Given the description of an element on the screen output the (x, y) to click on. 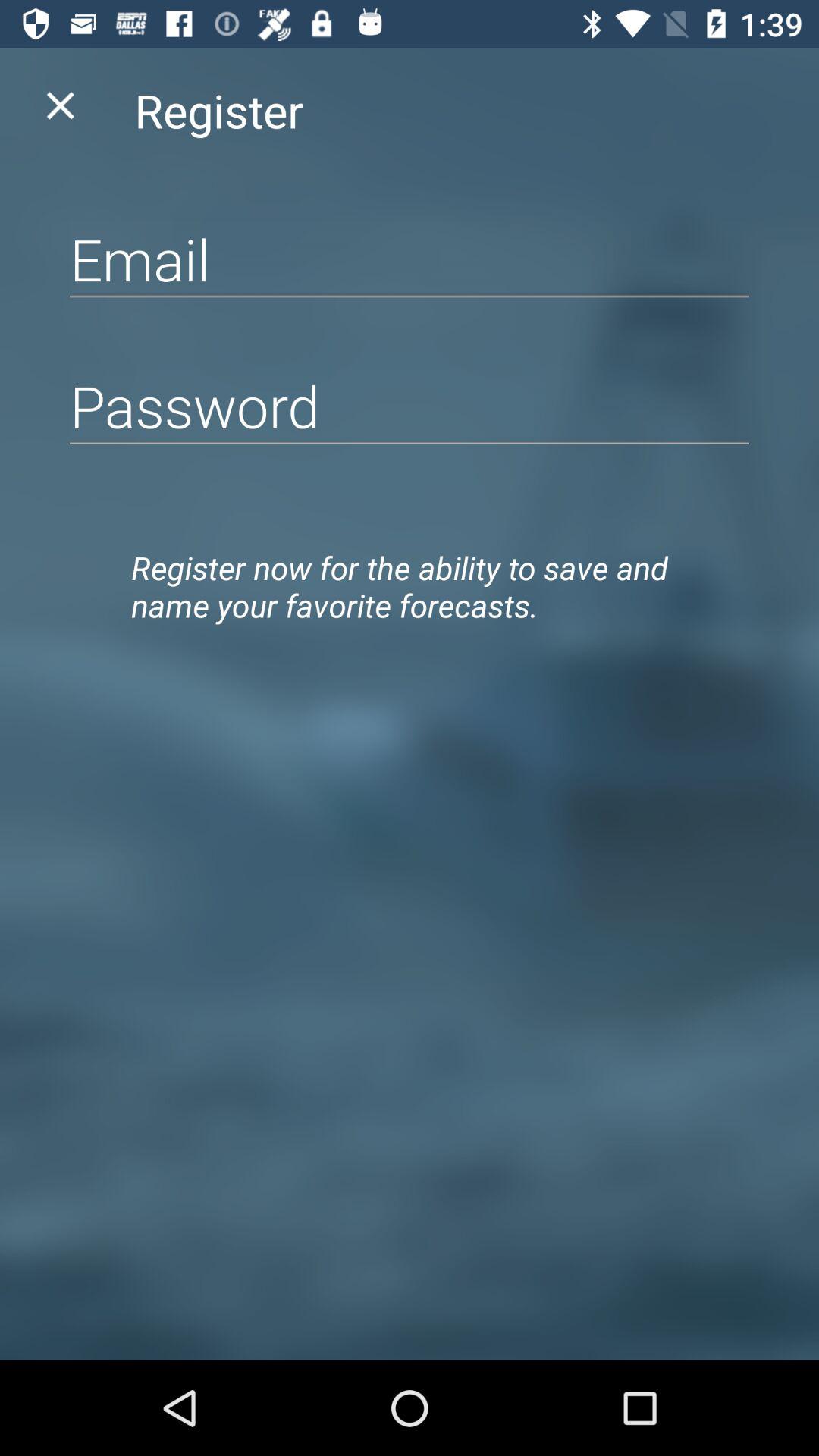
enter password (409, 405)
